Given the description of an element on the screen output the (x, y) to click on. 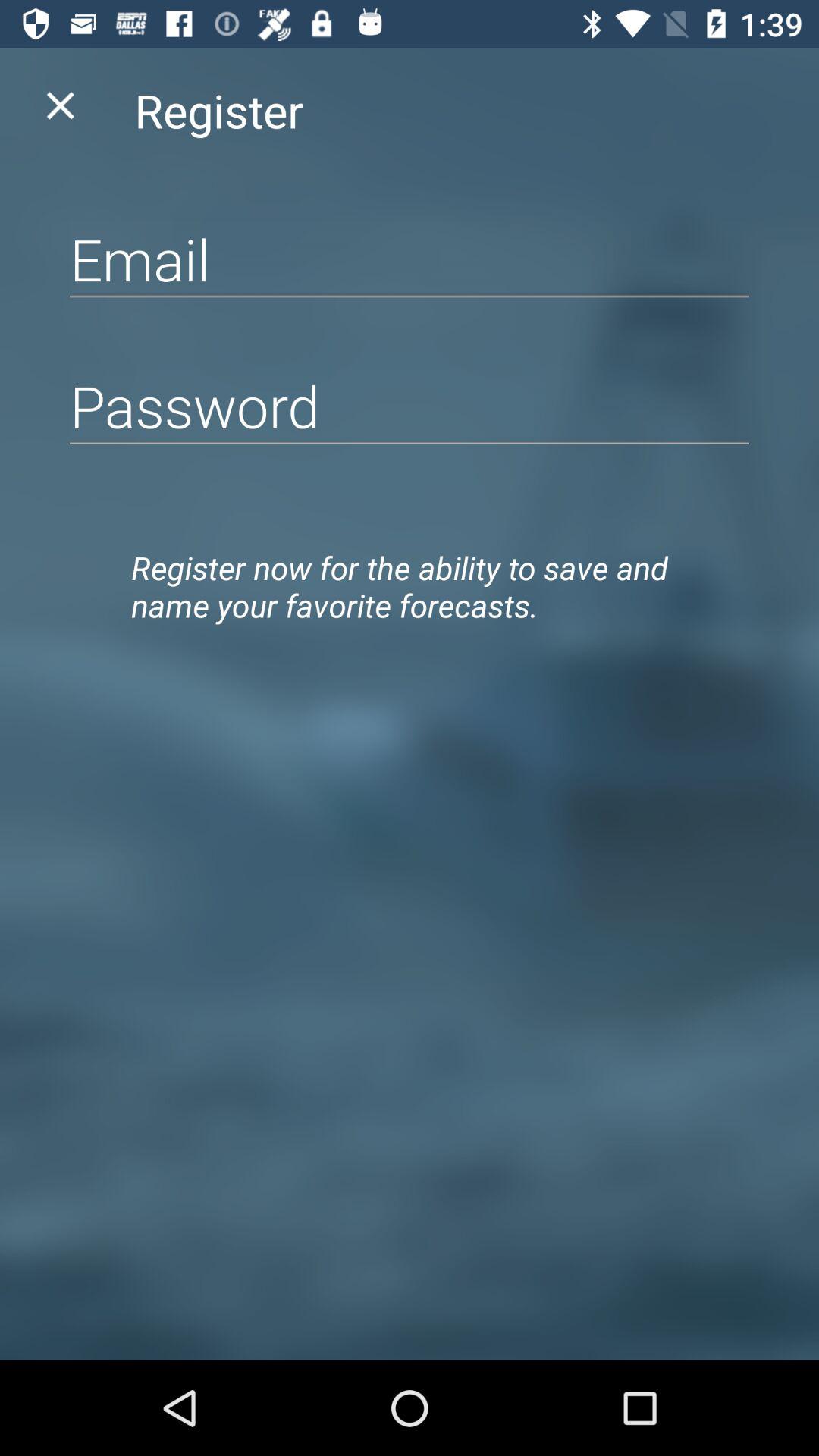
enter password (409, 405)
